Given the description of an element on the screen output the (x, y) to click on. 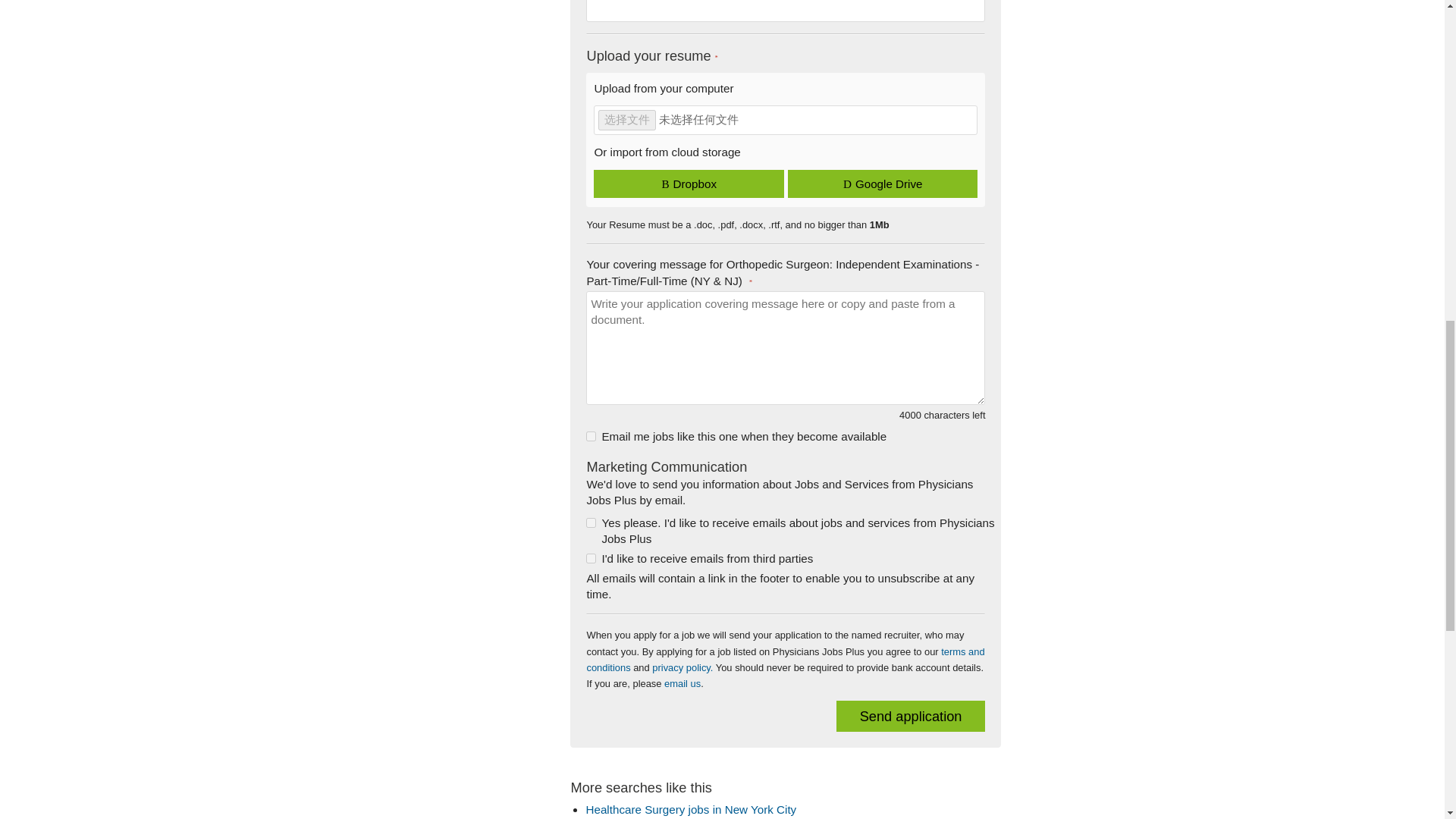
terms and conditions (785, 659)
Send application (910, 716)
email us (681, 683)
privacy policy. (682, 667)
True (590, 558)
True (590, 522)
Send application (910, 716)
Google Drive (881, 183)
True (590, 436)
Dropbox (688, 183)
Healthcare Surgery jobs in New York City (690, 809)
